Given the description of an element on the screen output the (x, y) to click on. 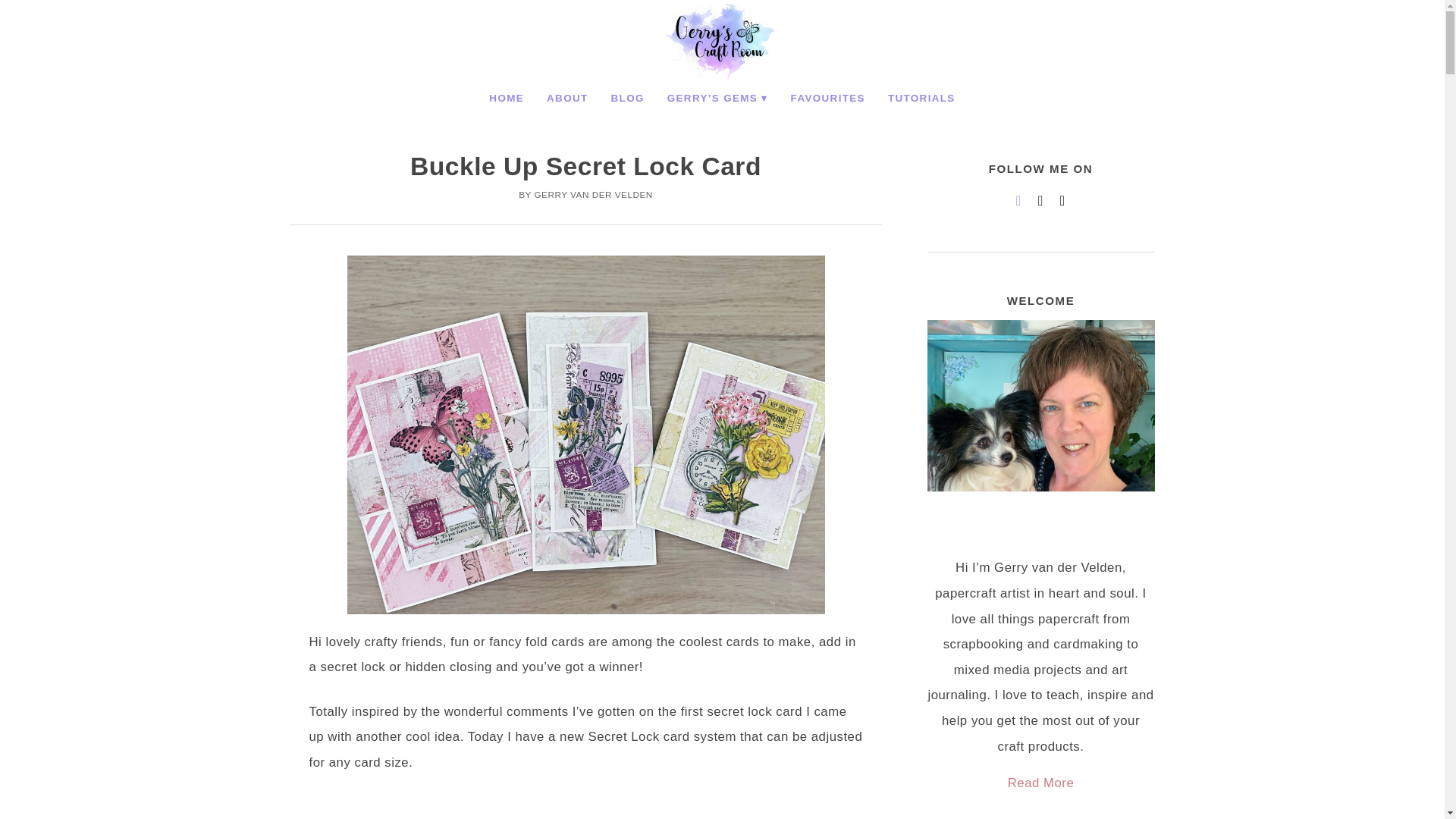
BLOG (627, 97)
ABOUT (567, 97)
HOME (506, 97)
Buckle Up Secret Lock Card (585, 166)
FAVOURITES (827, 97)
TUTORIALS (921, 97)
Read More (1040, 782)
Buckle Up Secret Lock Card (585, 166)
